Given the description of an element on the screen output the (x, y) to click on. 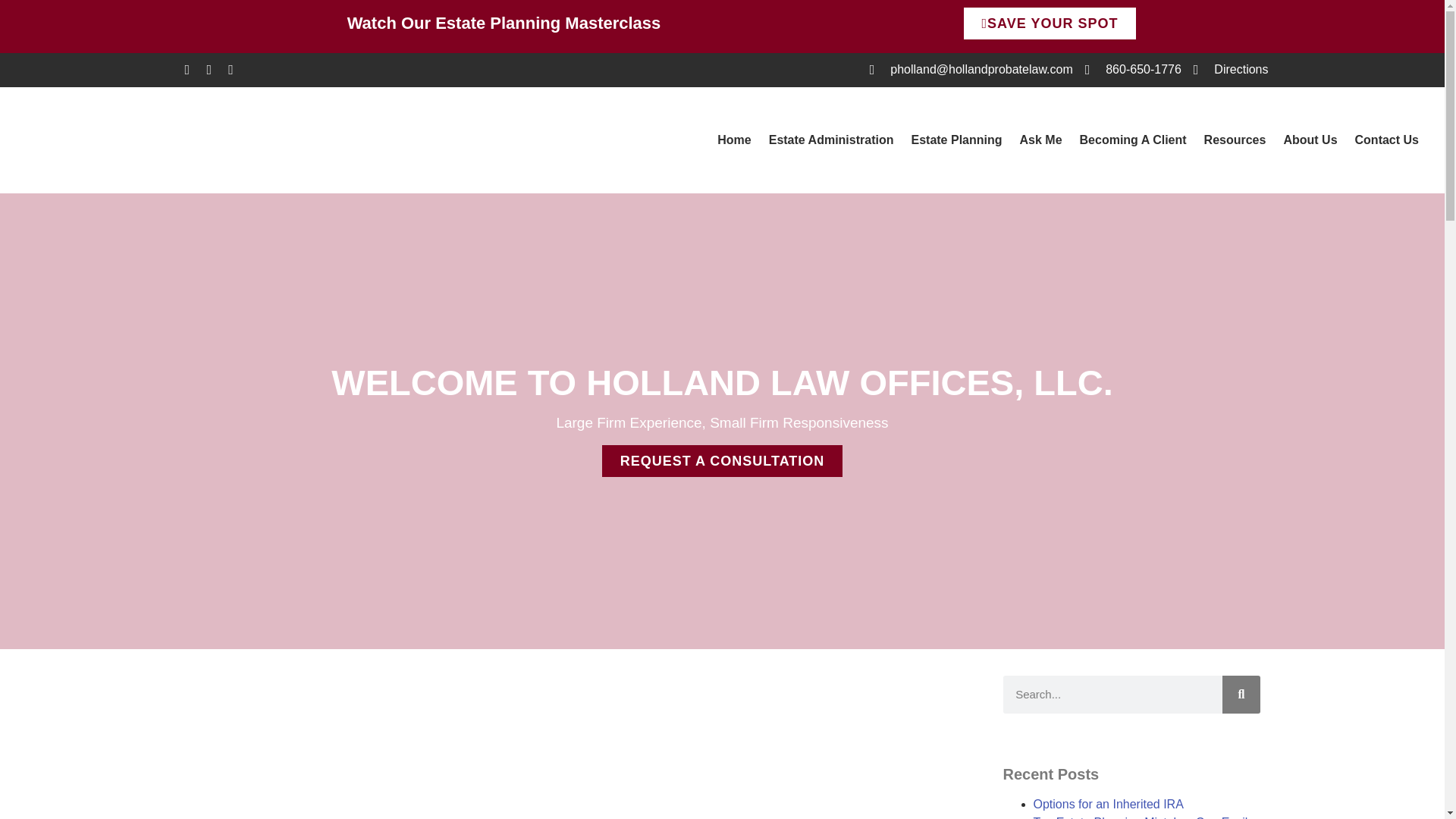
Home (734, 139)
Directions (1230, 69)
Contact Us (1387, 139)
About Us (1309, 139)
Resources (1235, 139)
SAVE YOUR SPOT (1050, 23)
Estate Planning (955, 139)
Ask Me (1040, 139)
Becoming A Client (1133, 139)
Estate Administration (830, 139)
